Given the description of an element on the screen output the (x, y) to click on. 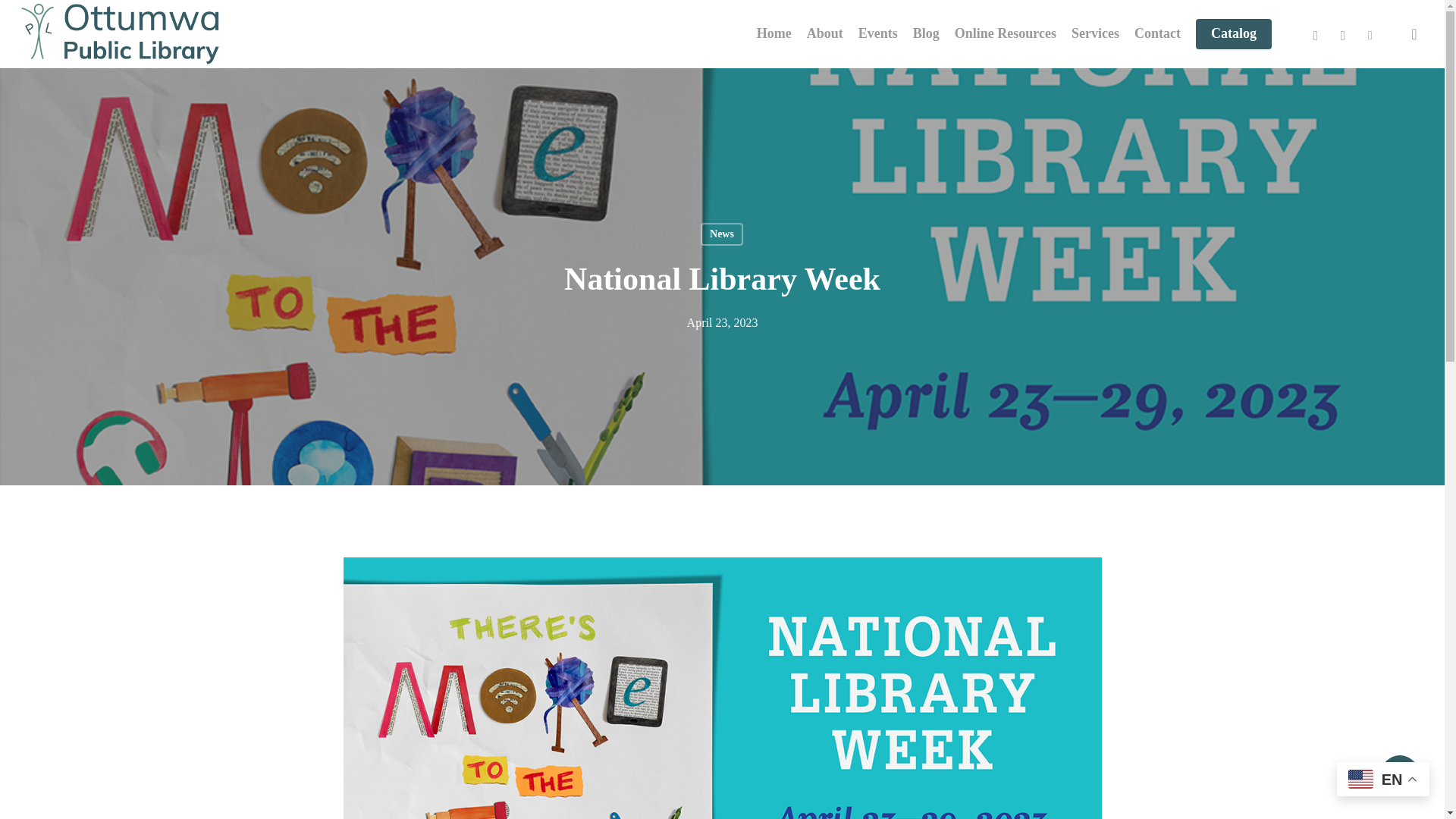
Catalog (1233, 33)
tiktok (1370, 34)
About (824, 33)
News (721, 233)
instagram (1342, 34)
Blog (925, 33)
facebook (1315, 34)
Services (1095, 33)
Online Resources (1006, 33)
search (1414, 33)
Home (774, 33)
Events (878, 33)
Contact (1157, 33)
